Given the description of an element on the screen output the (x, y) to click on. 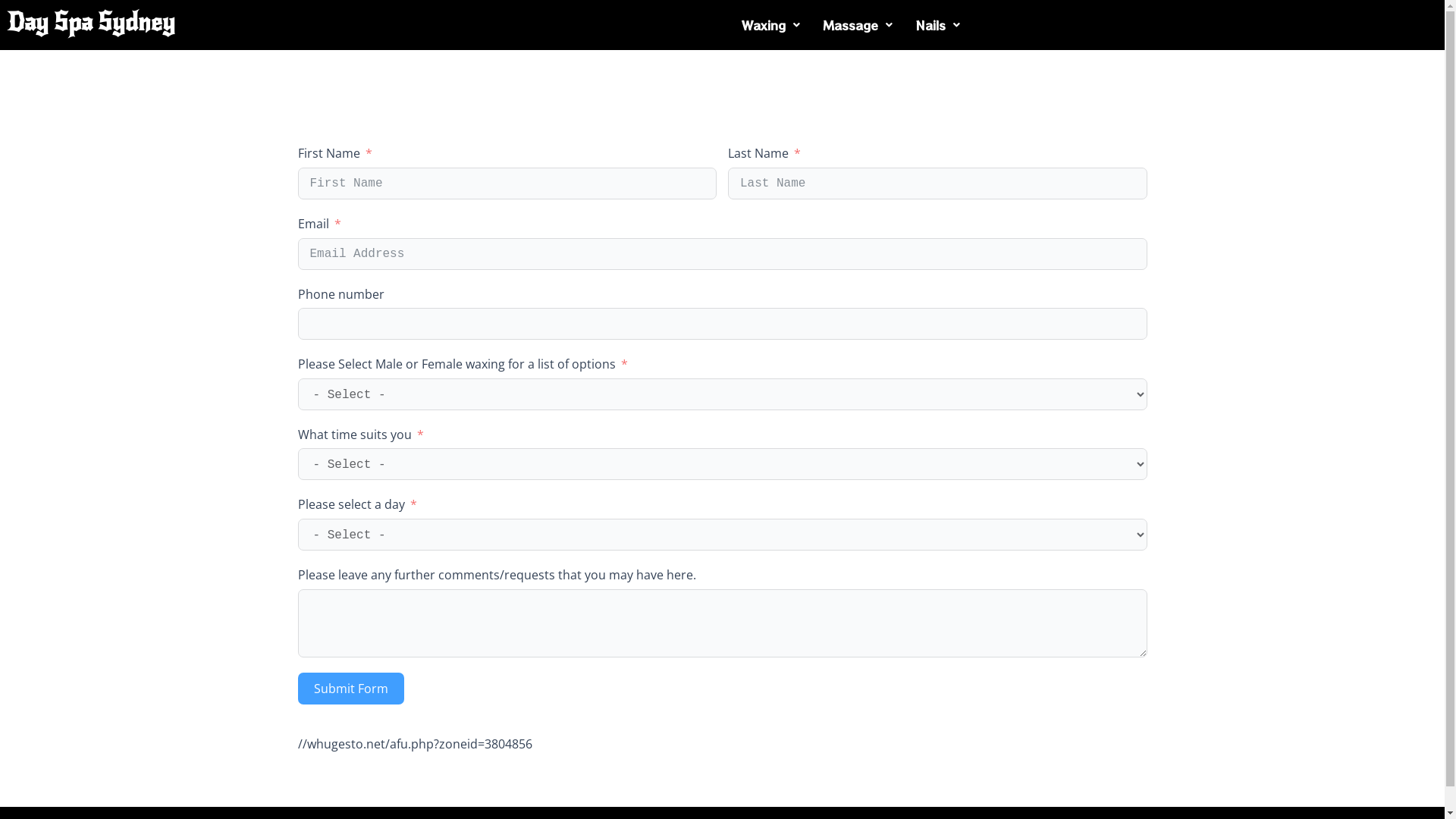
Massage Element type: text (857, 24)
Nails Element type: text (937, 24)
Day Spa Sydney Element type: text (91, 22)
Submit Form Element type: text (350, 688)
Waxing Element type: text (769, 24)
